Given the description of an element on the screen output the (x, y) to click on. 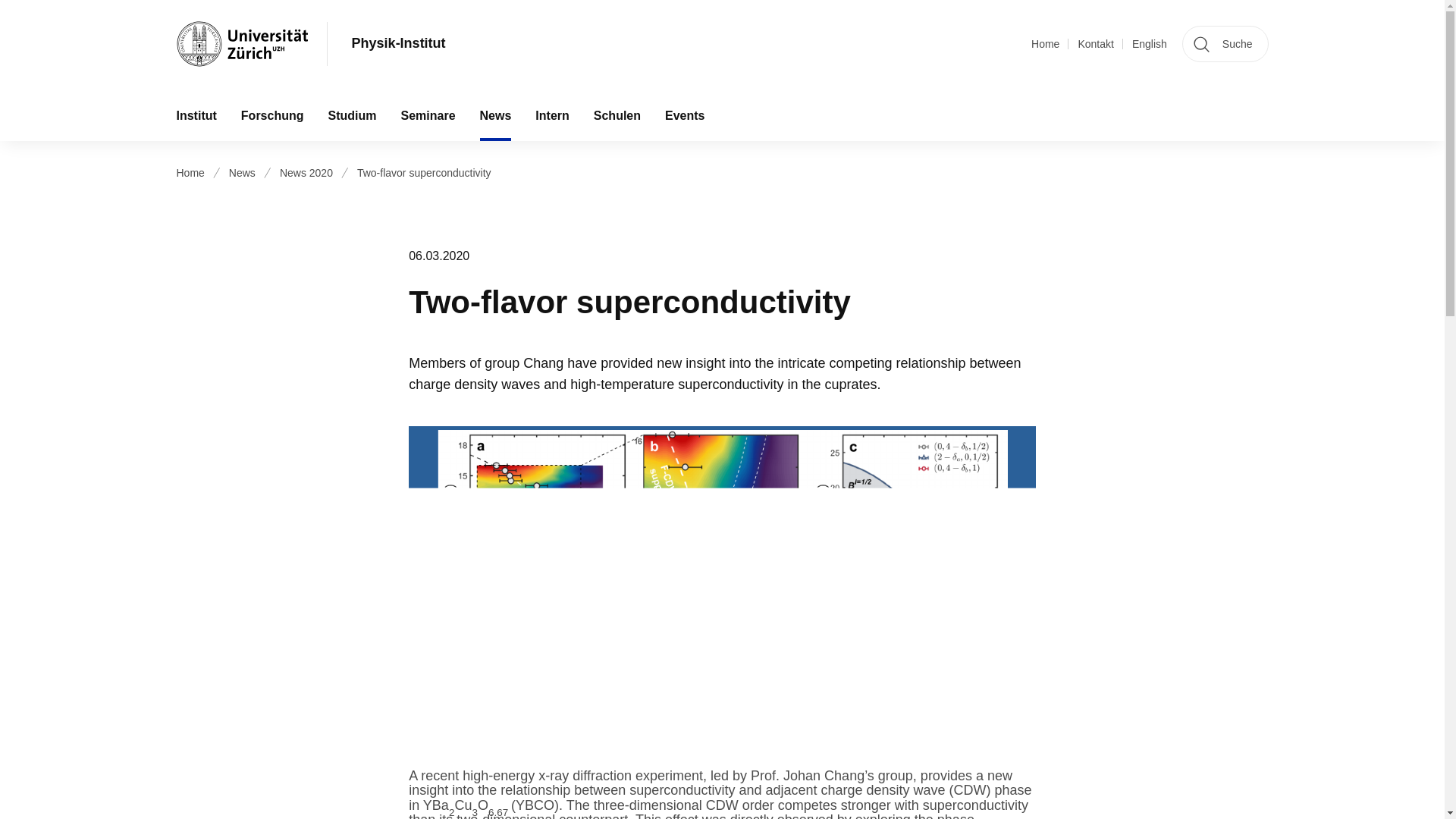
Institut (195, 115)
Kontakt (1095, 44)
Suche (1225, 43)
Physik-Institut (398, 43)
Home (1044, 44)
English (1149, 44)
